Given the description of an element on the screen output the (x, y) to click on. 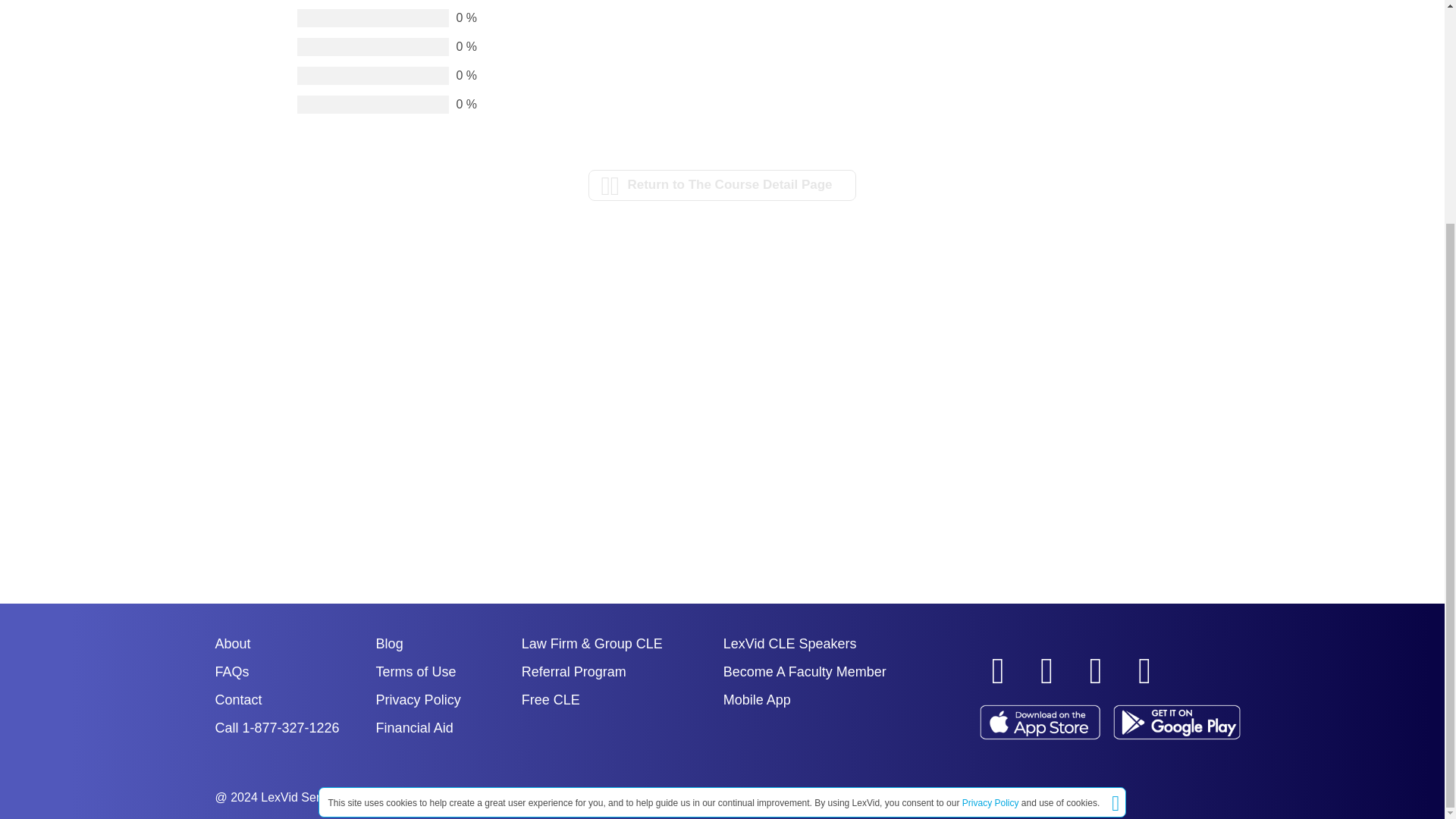
Privacy Policy (418, 699)
Privacy Policy (990, 505)
FAQs (231, 671)
Call 1-877-327-1226 (277, 727)
Terms of Use (416, 671)
Mobile App (756, 699)
Contact (238, 699)
3 (226, 47)
About (232, 643)
Become A Faculty Member (804, 671)
